Given the description of an element on the screen output the (x, y) to click on. 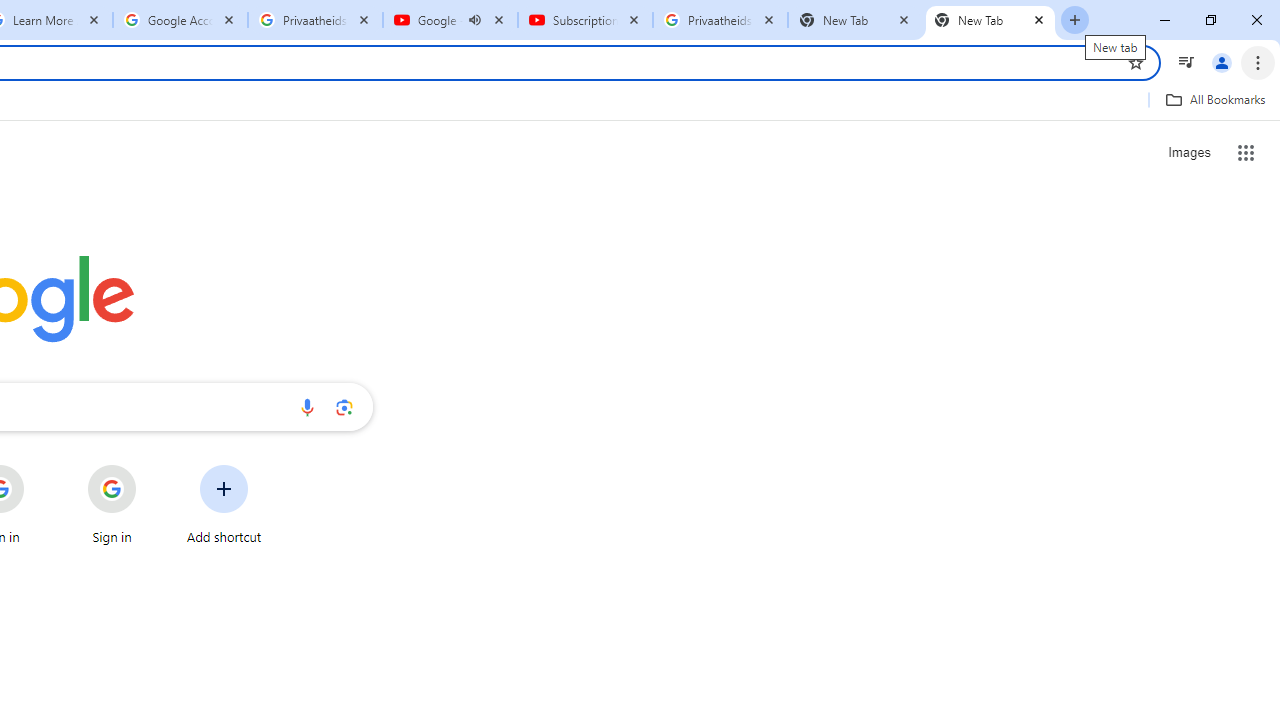
Subscriptions - YouTube (585, 20)
More actions for Sign in shortcut (152, 466)
